Given the description of an element on the screen output the (x, y) to click on. 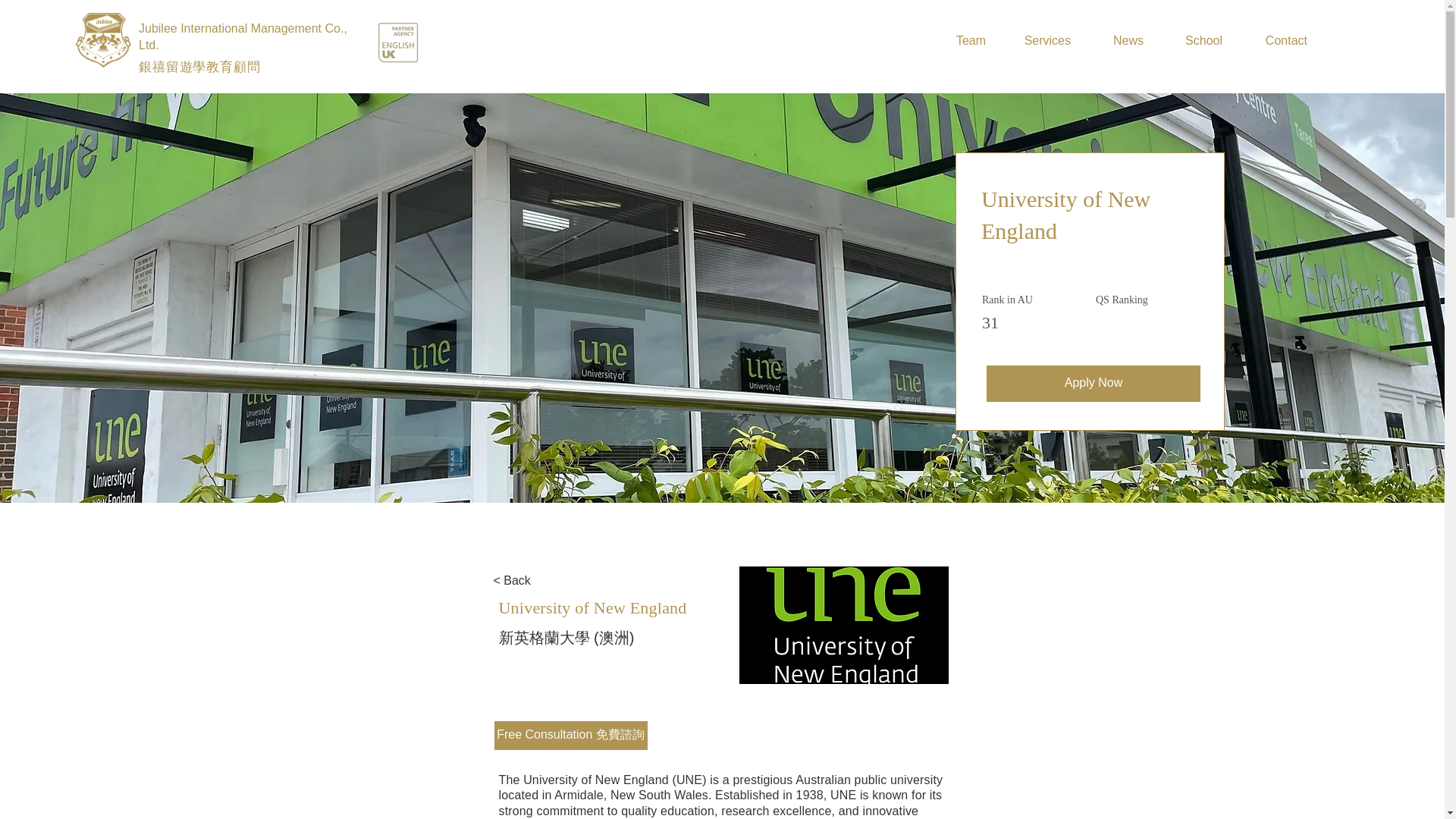
Apply Now (1093, 383)
Services (1039, 40)
English-UK-partner-agency (398, 42)
News (1117, 40)
Contact (1276, 40)
Team (960, 40)
University of New England logo.png (842, 624)
